Given the description of an element on the screen output the (x, y) to click on. 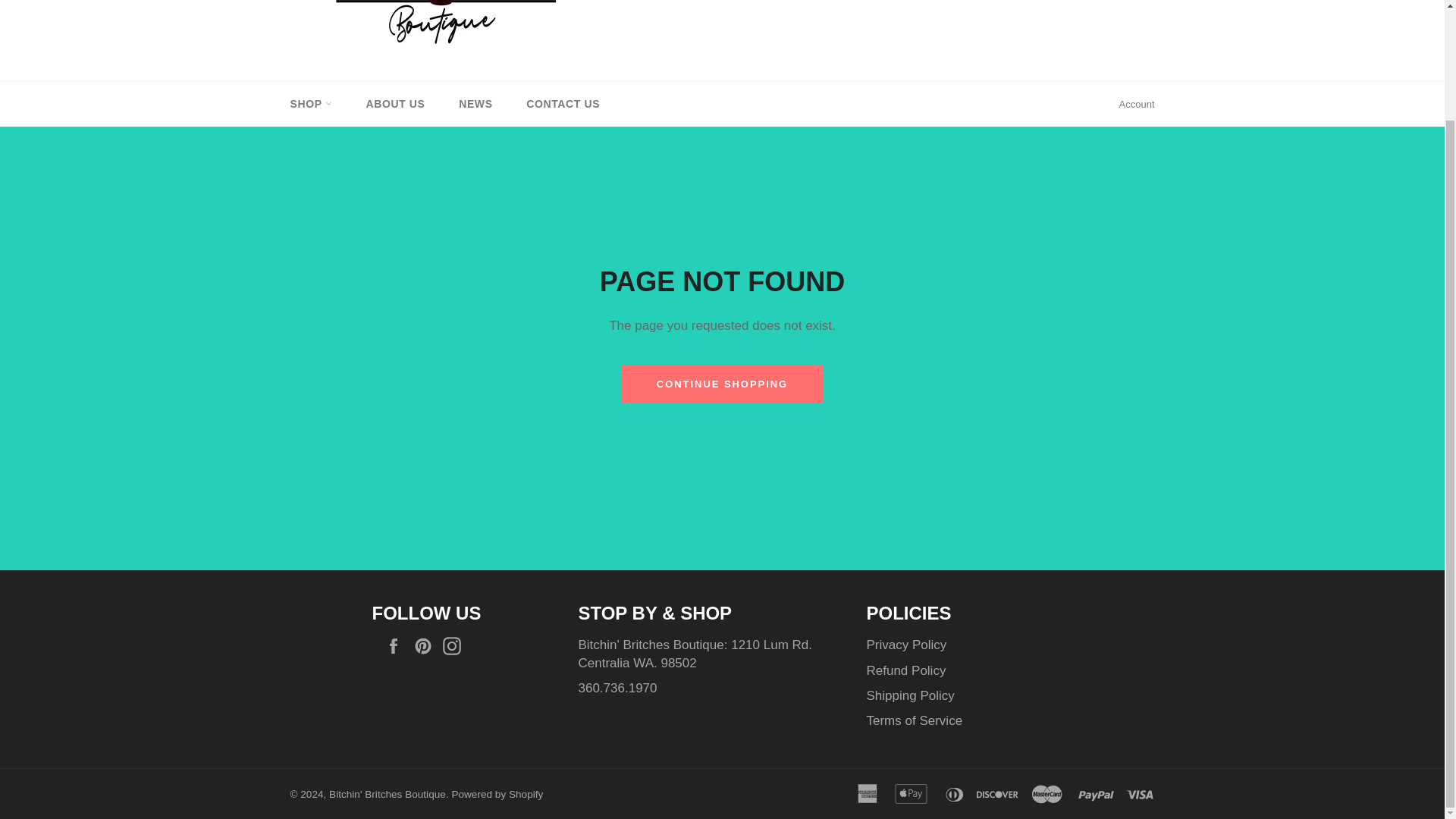
NEWS (475, 103)
CONTACT US (562, 103)
CONTINUE SHOPPING (721, 384)
ABOUT US (395, 103)
Bitchin' Britches Boutique on Instagram (455, 645)
SHOP (310, 103)
Bitchin' Britches Boutique on Facebook (397, 645)
Account (1136, 104)
Bitchin' Britches Boutique on Pinterest (426, 645)
